Given the description of an element on the screen output the (x, y) to click on. 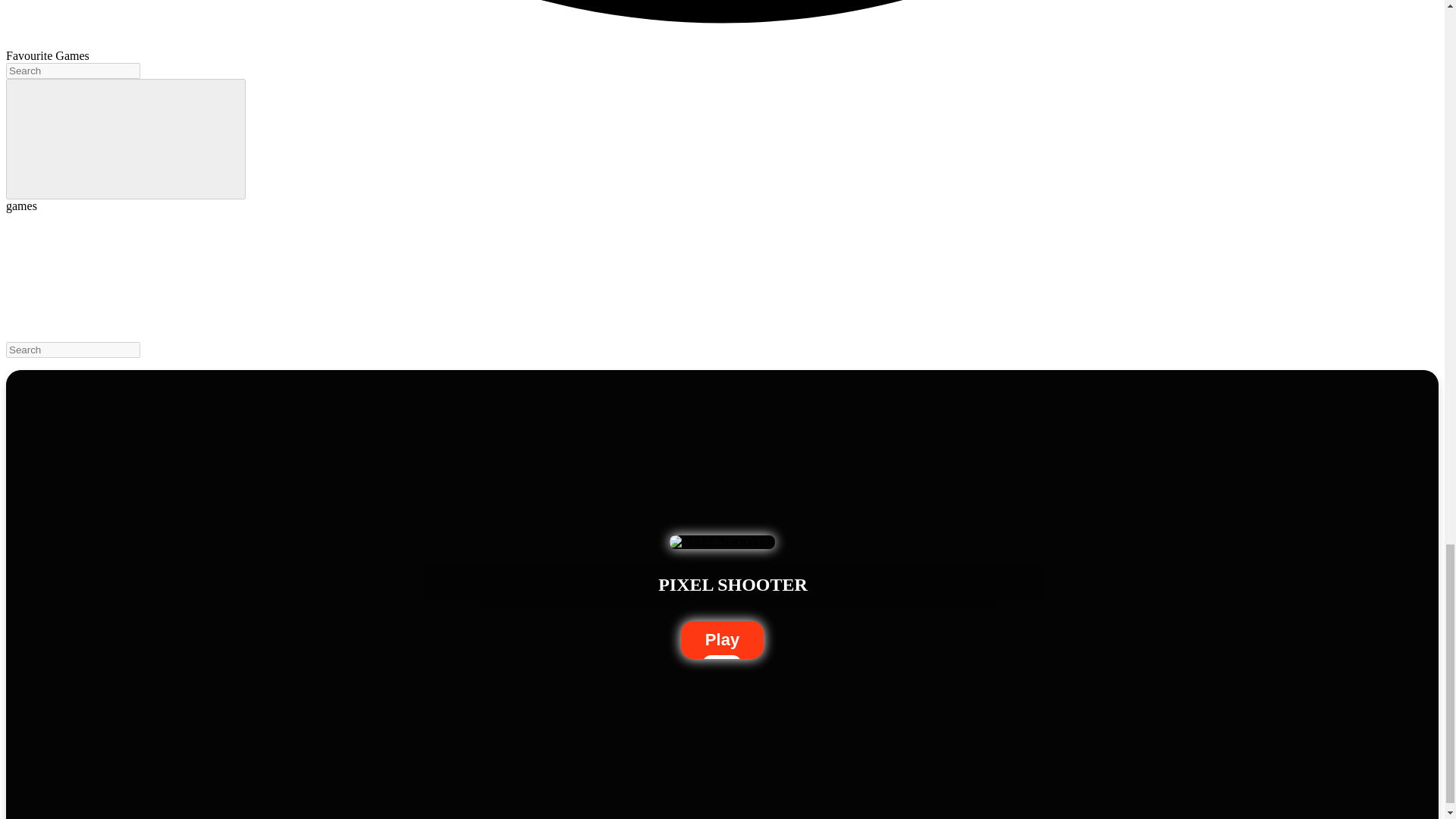
Play (721, 639)
